Given the description of an element on the screen output the (x, y) to click on. 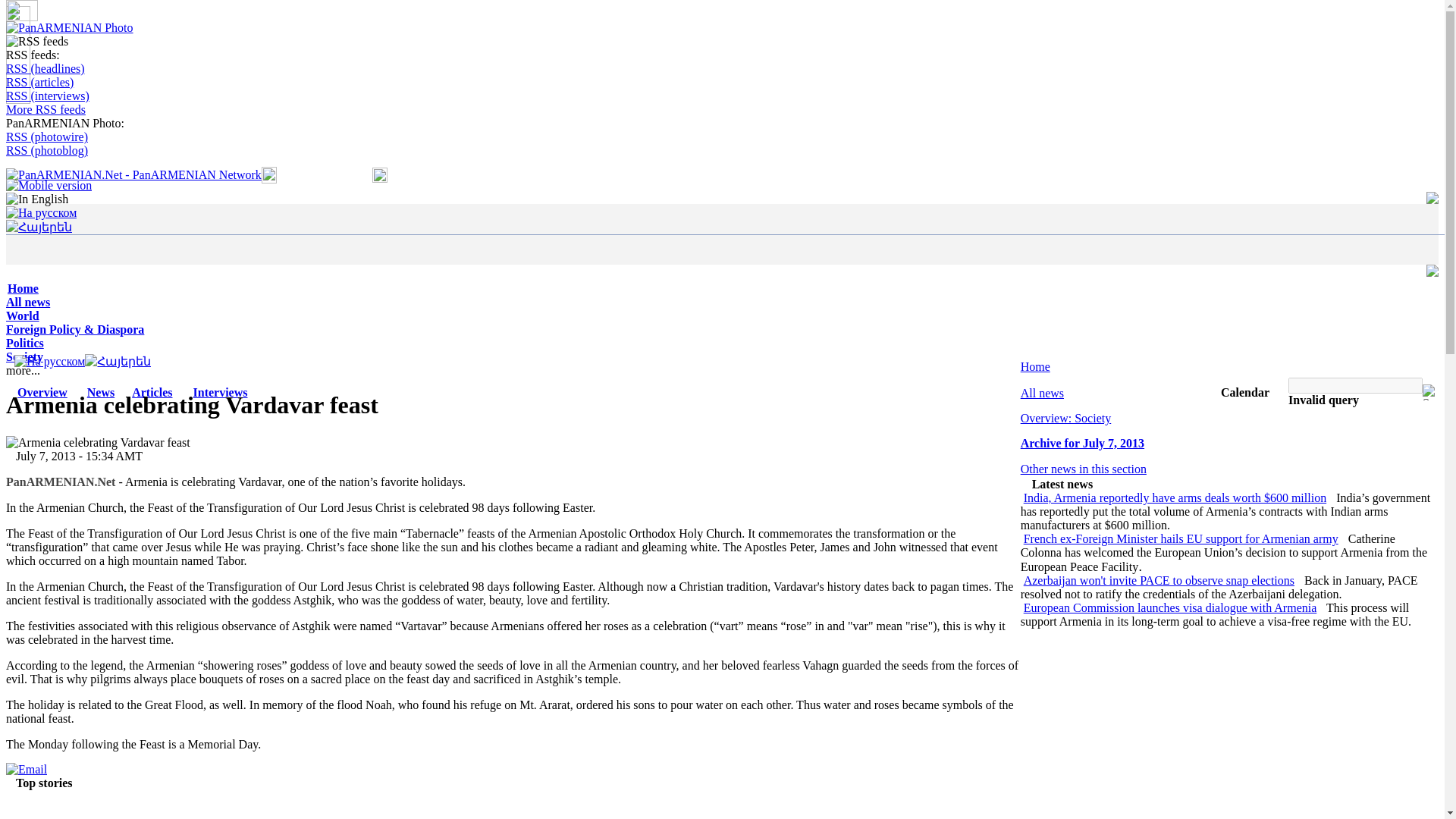
more... (26, 369)
RSS feeds (36, 41)
News (101, 391)
All news (27, 301)
Society (24, 356)
PanARMENIAN.Net - PanARMENIAN Network (133, 174)
Calendar (1245, 391)
Mobile version (48, 185)
Interviews (219, 391)
Politics (24, 342)
World (22, 315)
Home (23, 287)
Overview (41, 391)
PanARMENIAN Photo (69, 28)
Articles (151, 391)
